Given the description of an element on the screen output the (x, y) to click on. 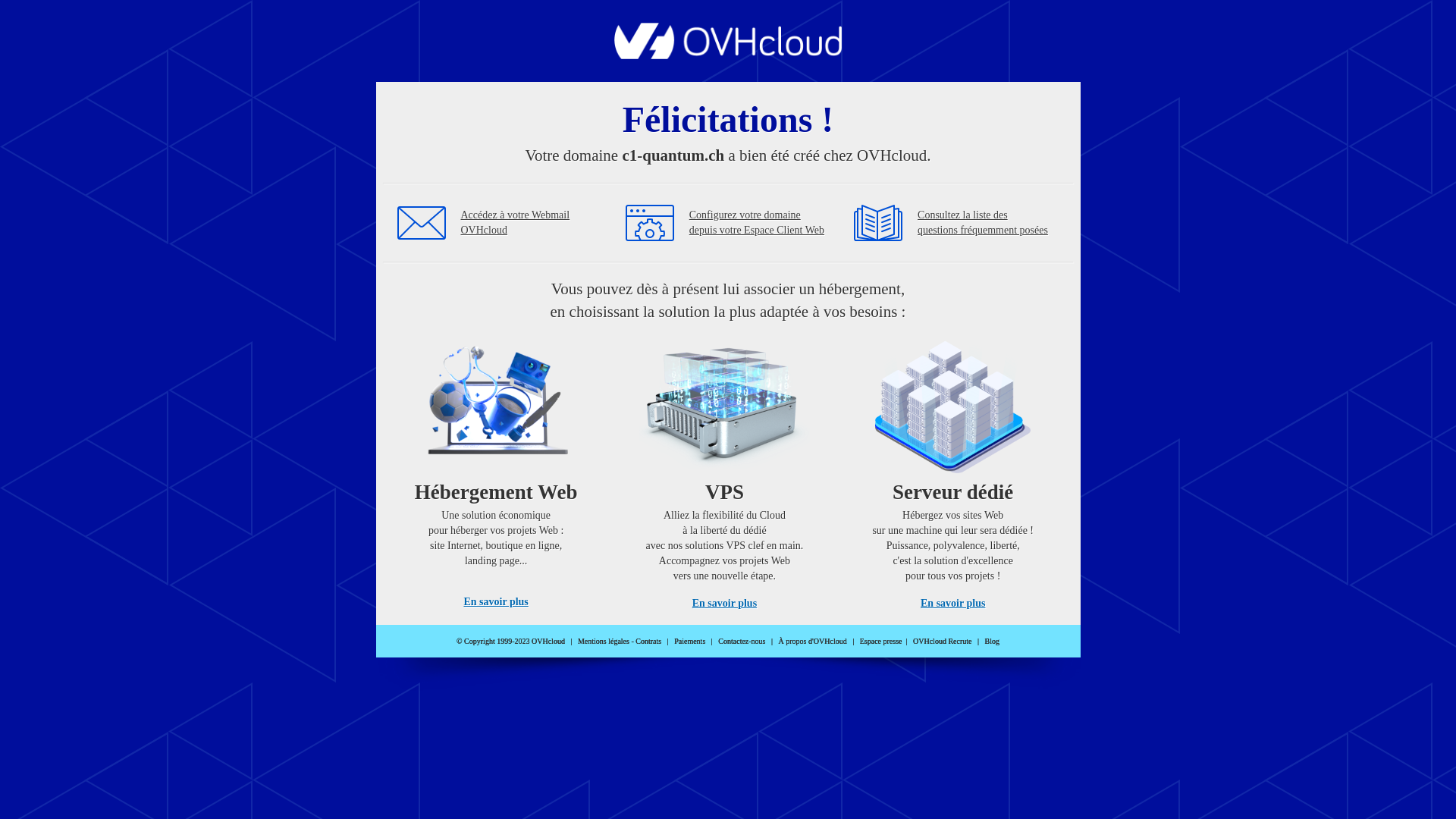
VPS Element type: hover (724, 469)
Blog Element type: text (992, 641)
Contactez-nous Element type: text (741, 641)
OVHcloud Element type: hover (727, 54)
Configurez votre domaine
depuis votre Espace Client Web Element type: text (756, 222)
En savoir plus Element type: text (952, 602)
En savoir plus Element type: text (724, 602)
Paiements Element type: text (689, 641)
Espace presse Element type: text (880, 641)
En savoir plus Element type: text (495, 601)
OVHcloud Recrute Element type: text (942, 641)
